Given the description of an element on the screen output the (x, y) to click on. 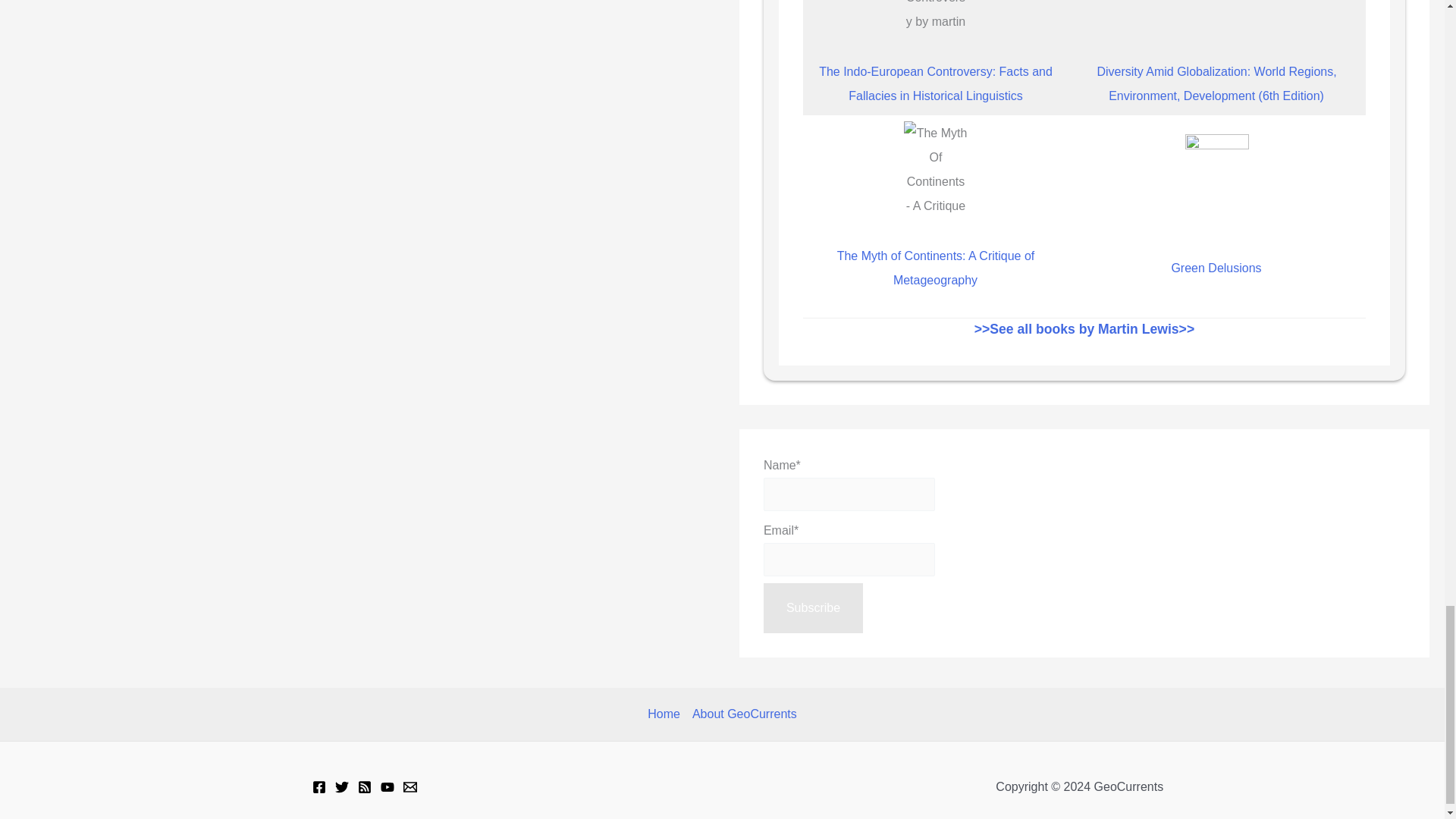
diversity amid globalization martin lewis (1216, 18)
Subscribe (812, 608)
green delusions by martin lewis (1217, 182)
Indo-European-Controversy by Asya Pereltsvaig Martin Lewis (935, 18)
